Given the description of an element on the screen output the (x, y) to click on. 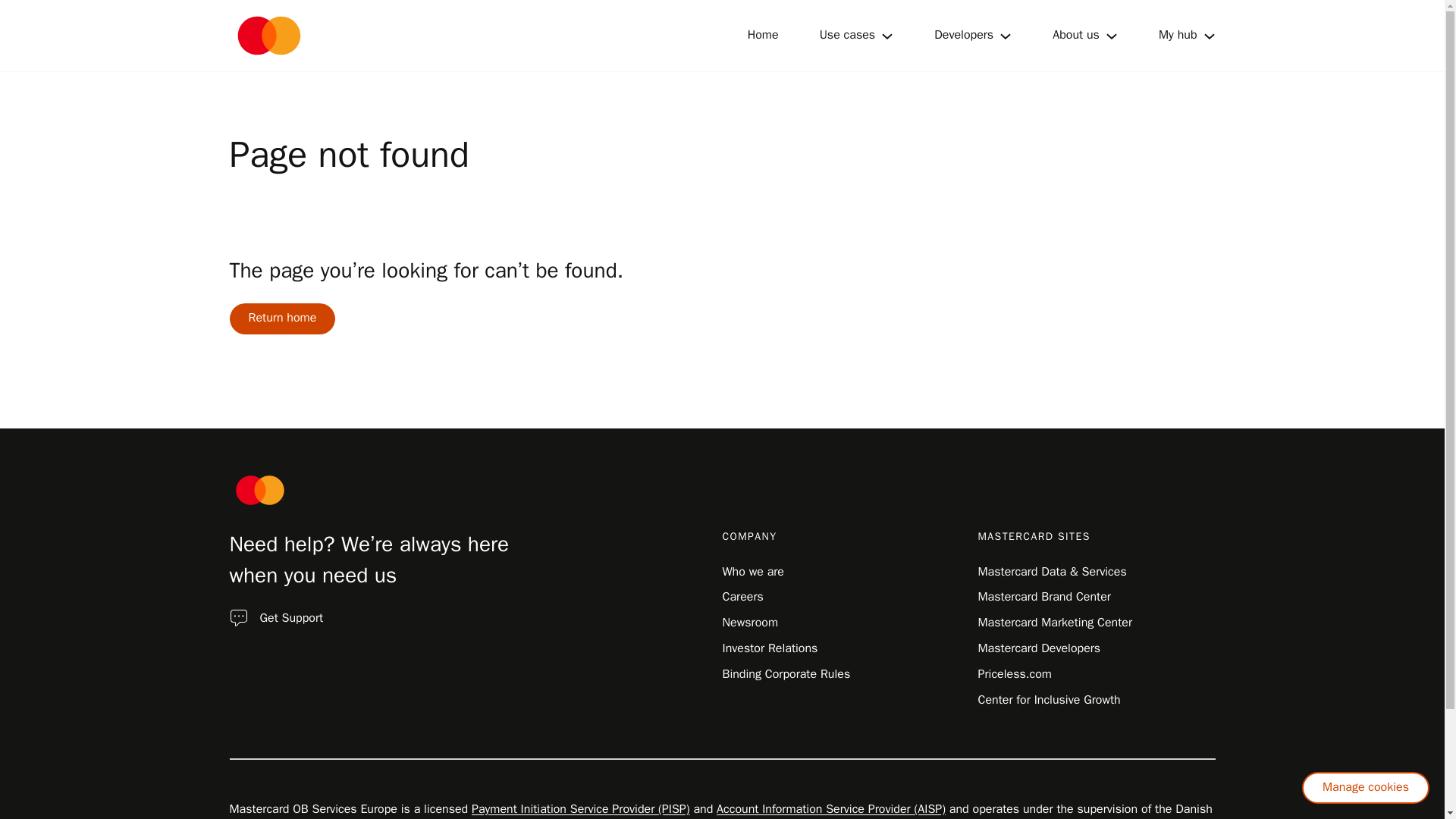
Priceless.com (1014, 673)
Mastercard Developers (1039, 648)
Investor Relations (769, 648)
Binding Corporate Rules (786, 673)
About us (1075, 35)
Home (763, 35)
Mastercard Marketing Center (1055, 622)
Get Support (291, 617)
Newsroom (749, 622)
Use cases (847, 35)
Careers (742, 596)
Who we are (752, 571)
My hub (1177, 35)
Developers (963, 35)
Mastercard Brand Center (1044, 596)
